Given the description of an element on the screen output the (x, y) to click on. 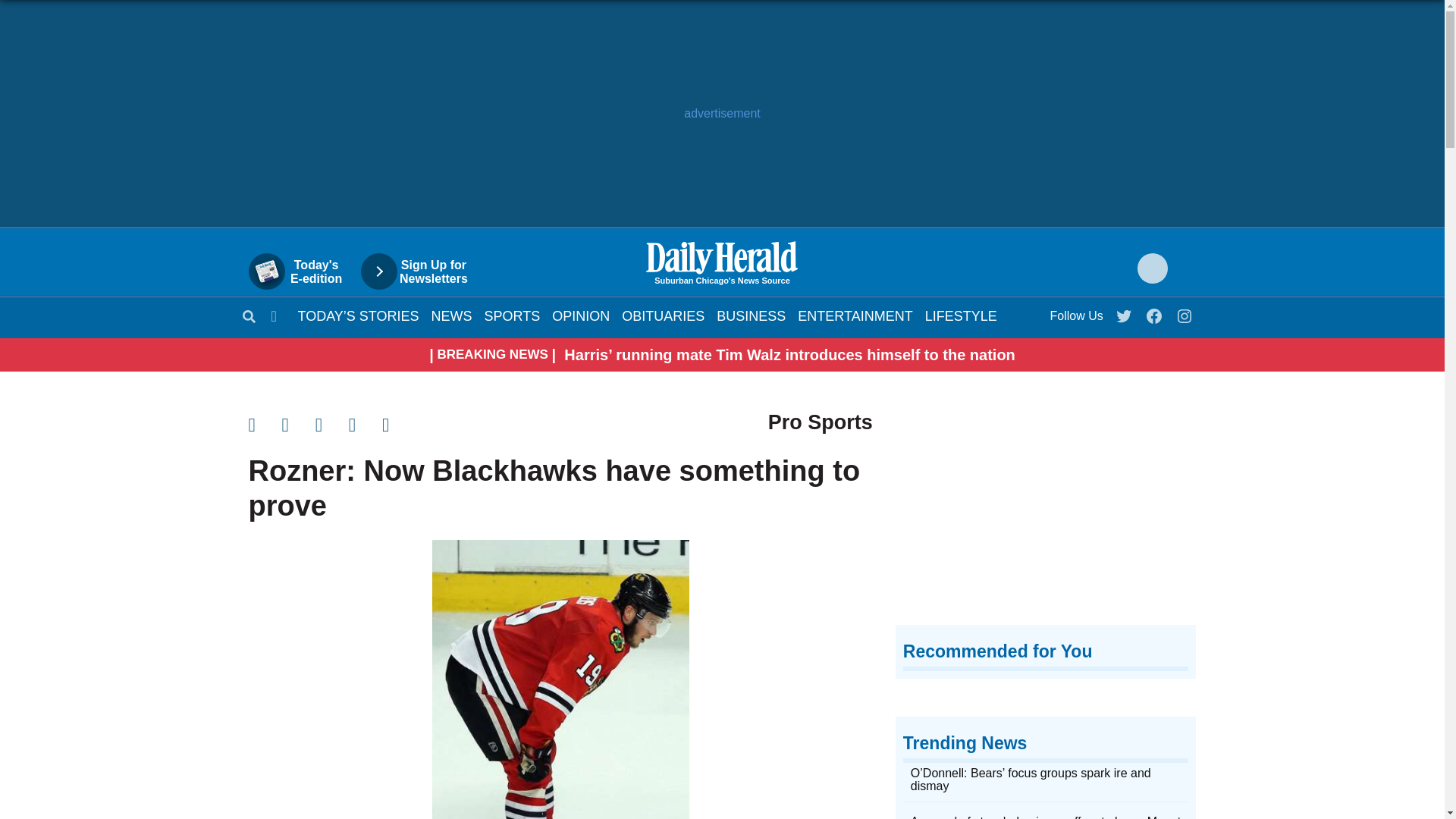
Share via Email (332, 424)
Sign Up for Newsletters (421, 271)
Signup Widget Embed (1045, 512)
ENTERTAINMENT (854, 315)
OPINION (580, 315)
LIFESTYLE (960, 315)
Today's Stories (358, 315)
Twitter (1124, 312)
Lifestyle (960, 315)
OBITUARIES (662, 315)
